Given the description of an element on the screen output the (x, y) to click on. 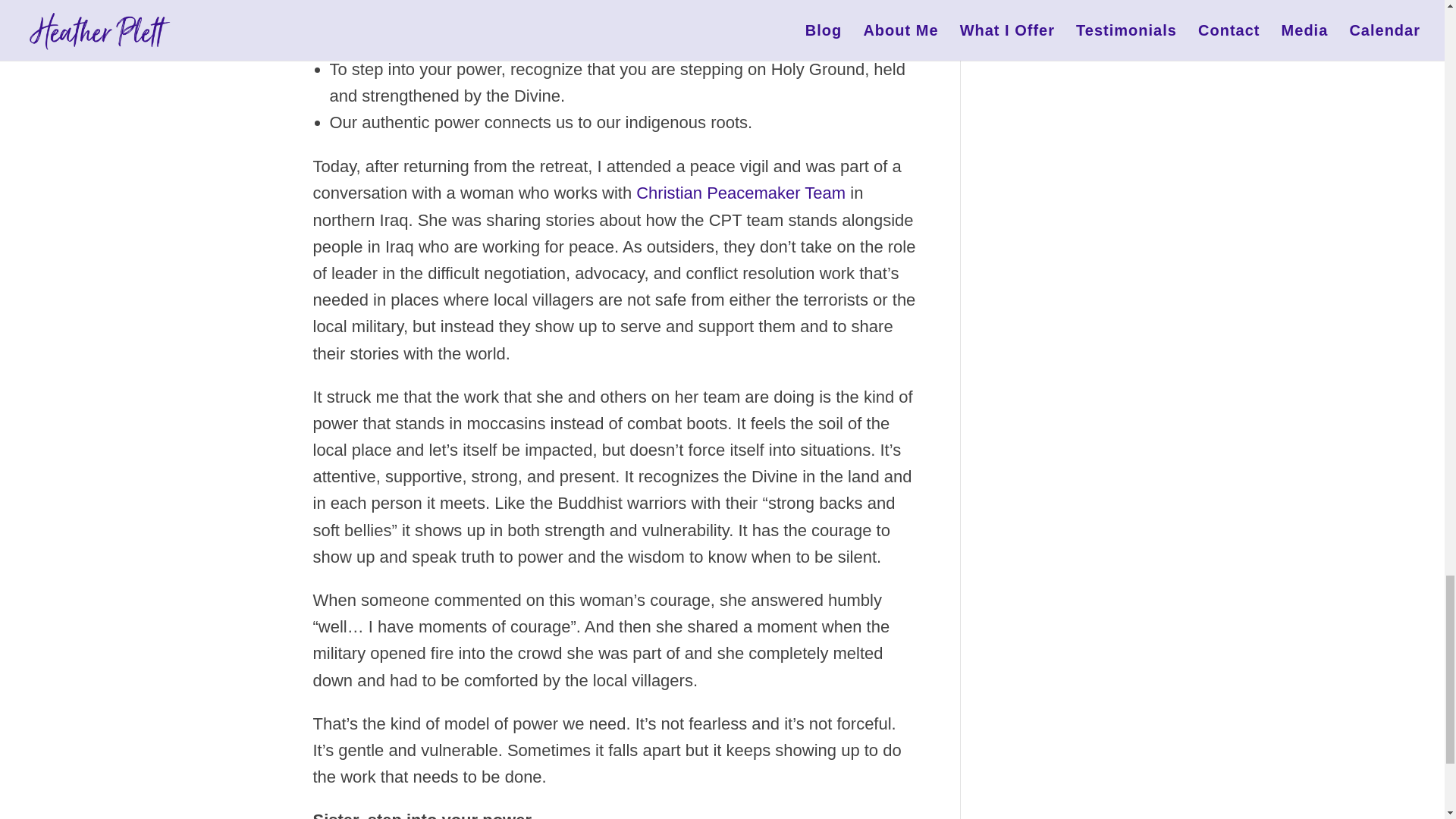
Christian Peacemaker Team (743, 192)
